Given the description of an element on the screen output the (x, y) to click on. 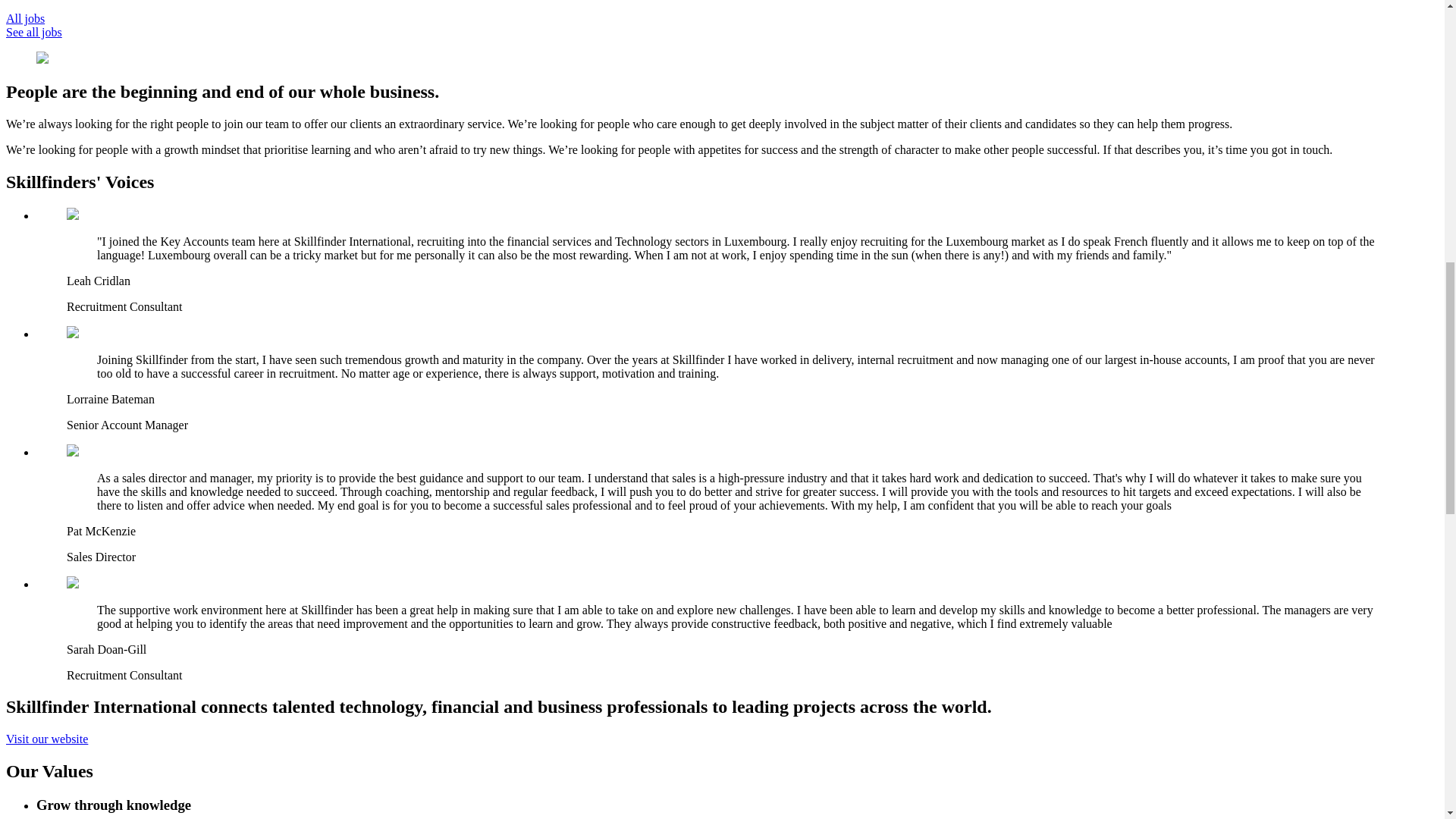
All jobs (25, 18)
